Given the description of an element on the screen output the (x, y) to click on. 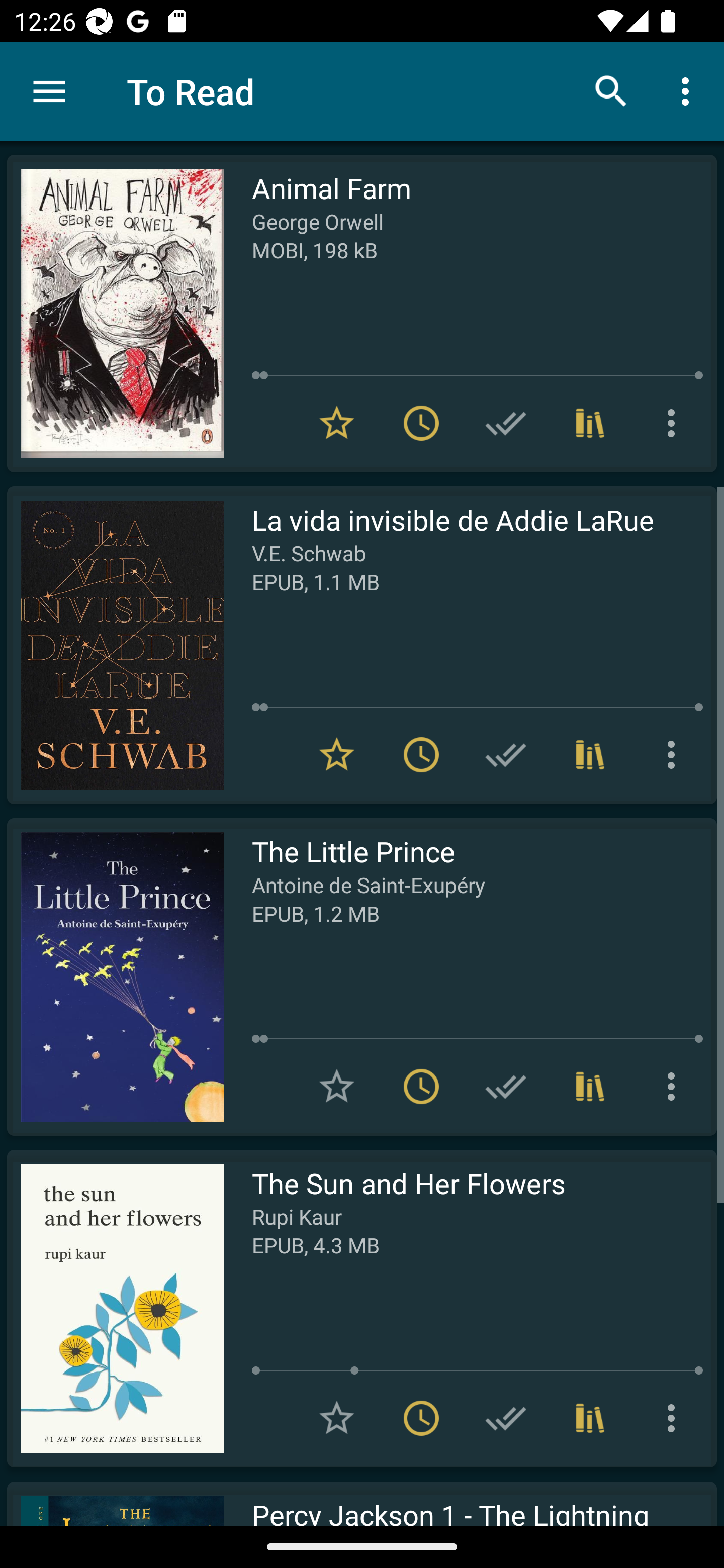
Menu (49, 91)
Search books & documents (611, 90)
More options (688, 90)
Read Animal Farm (115, 313)
Remove from Favorites (336, 423)
Remove from To read (421, 423)
Add to Have read (505, 423)
Collections (1) (590, 423)
More options (674, 423)
Read La vida invisible de Addie LaRue (115, 645)
Remove from Favorites (336, 753)
Remove from To read (421, 753)
Add to Have read (505, 753)
Collections (1) (590, 753)
More options (674, 753)
Read The Little Prince (115, 976)
Add to Favorites (336, 1086)
Remove from To read (421, 1086)
Add to Have read (505, 1086)
Collections (1) (590, 1086)
More options (674, 1086)
Read The Sun and Her Flowers (115, 1308)
Add to Favorites (336, 1417)
Remove from To read (421, 1417)
Add to Have read (505, 1417)
Collections (1) (590, 1417)
More options (674, 1417)
